Given the description of an element on the screen output the (x, y) to click on. 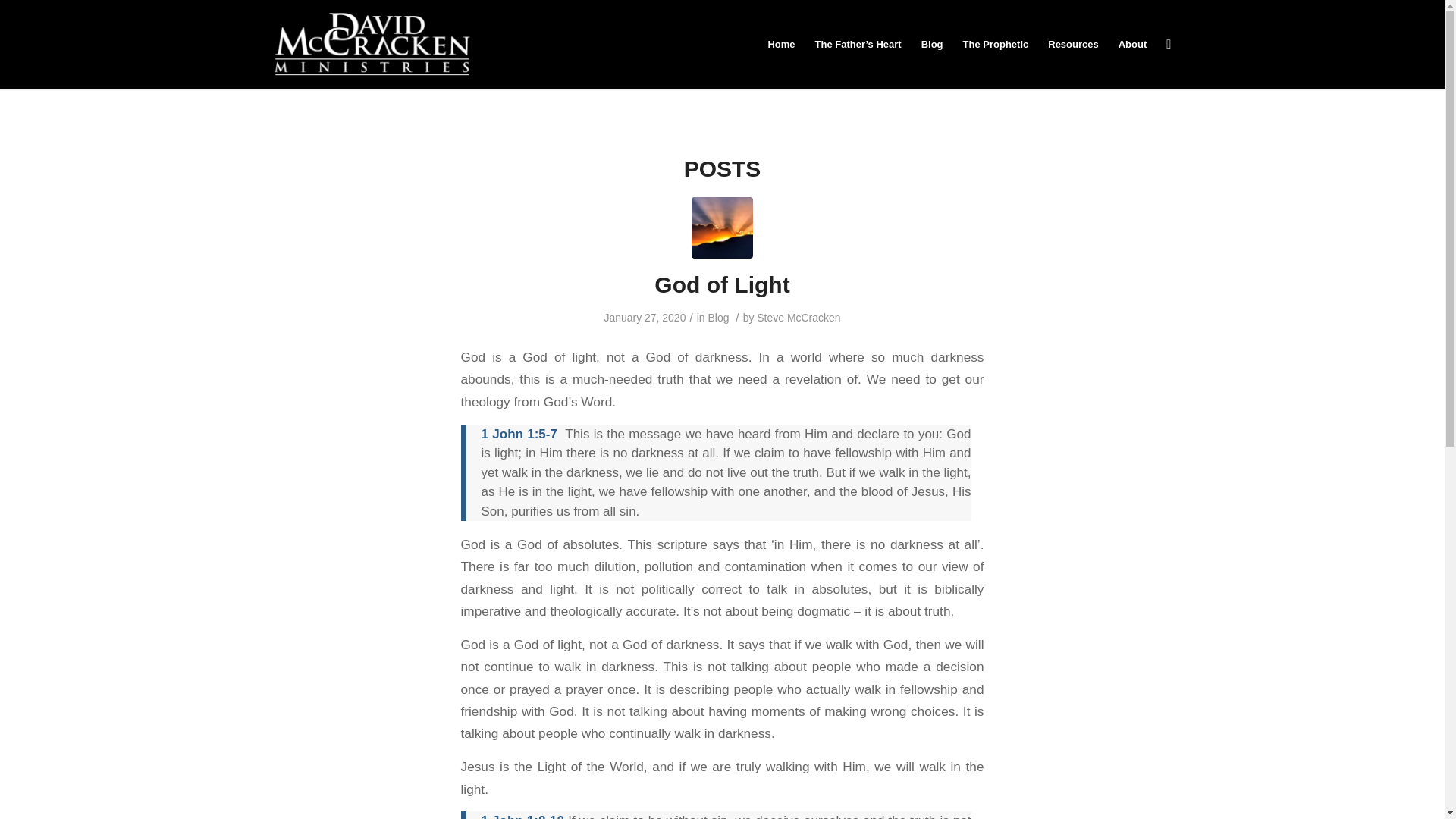
About (1132, 44)
Posts by Steve McCracken (798, 317)
Blog (718, 317)
1 John 1:5-7 (518, 433)
Resources (1073, 44)
1 John 1:8-10 (522, 816)
Home (781, 44)
Blog (932, 44)
The Prophetic (996, 44)
Steve McCracken (798, 317)
God Of Light (721, 227)
God of Light (721, 284)
Permanent Link: God of Light (721, 284)
